Given the description of an element on the screen output the (x, y) to click on. 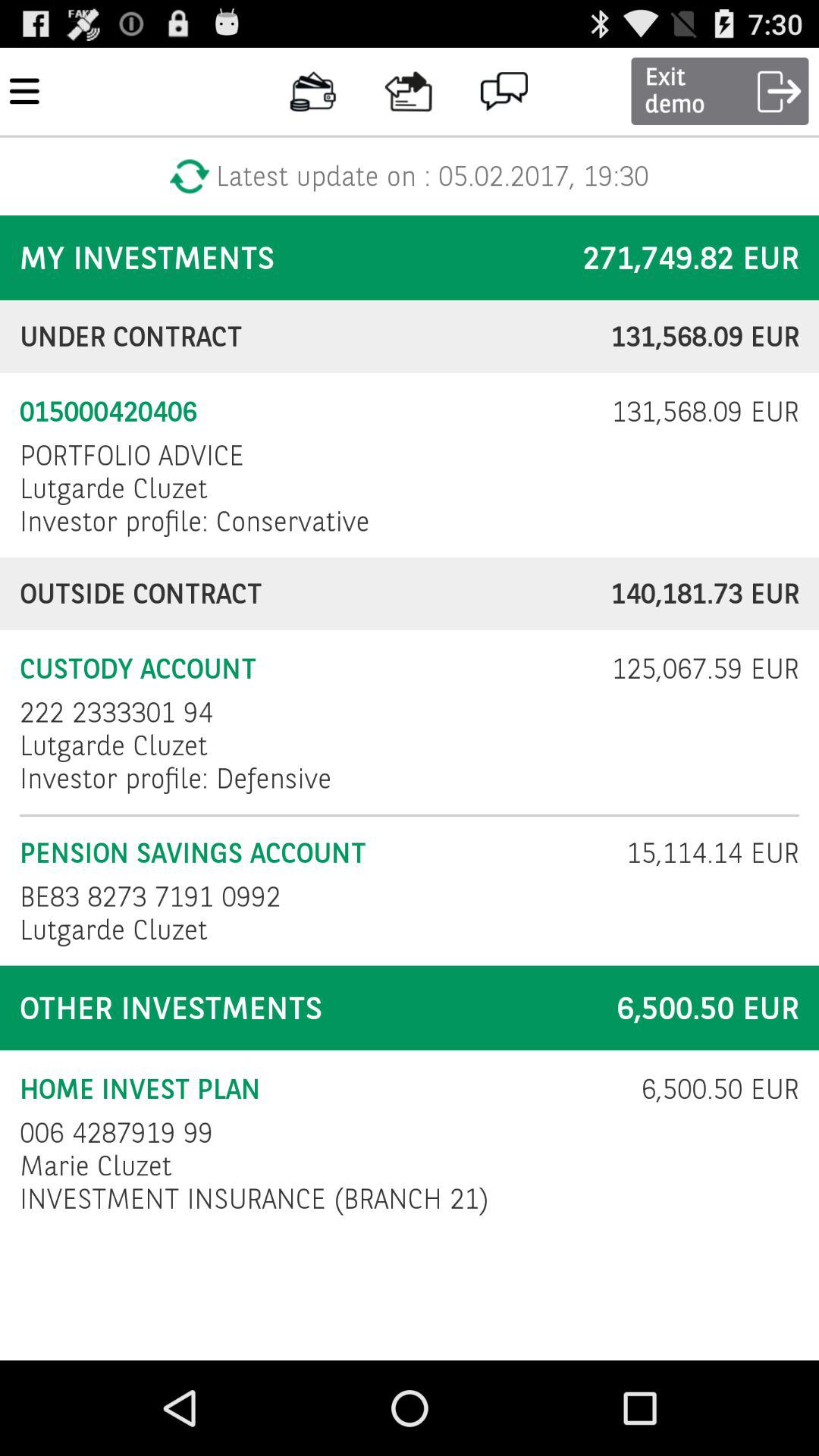
turn on 222 2333301 94 icon (116, 712)
